Given the description of an element on the screen output the (x, y) to click on. 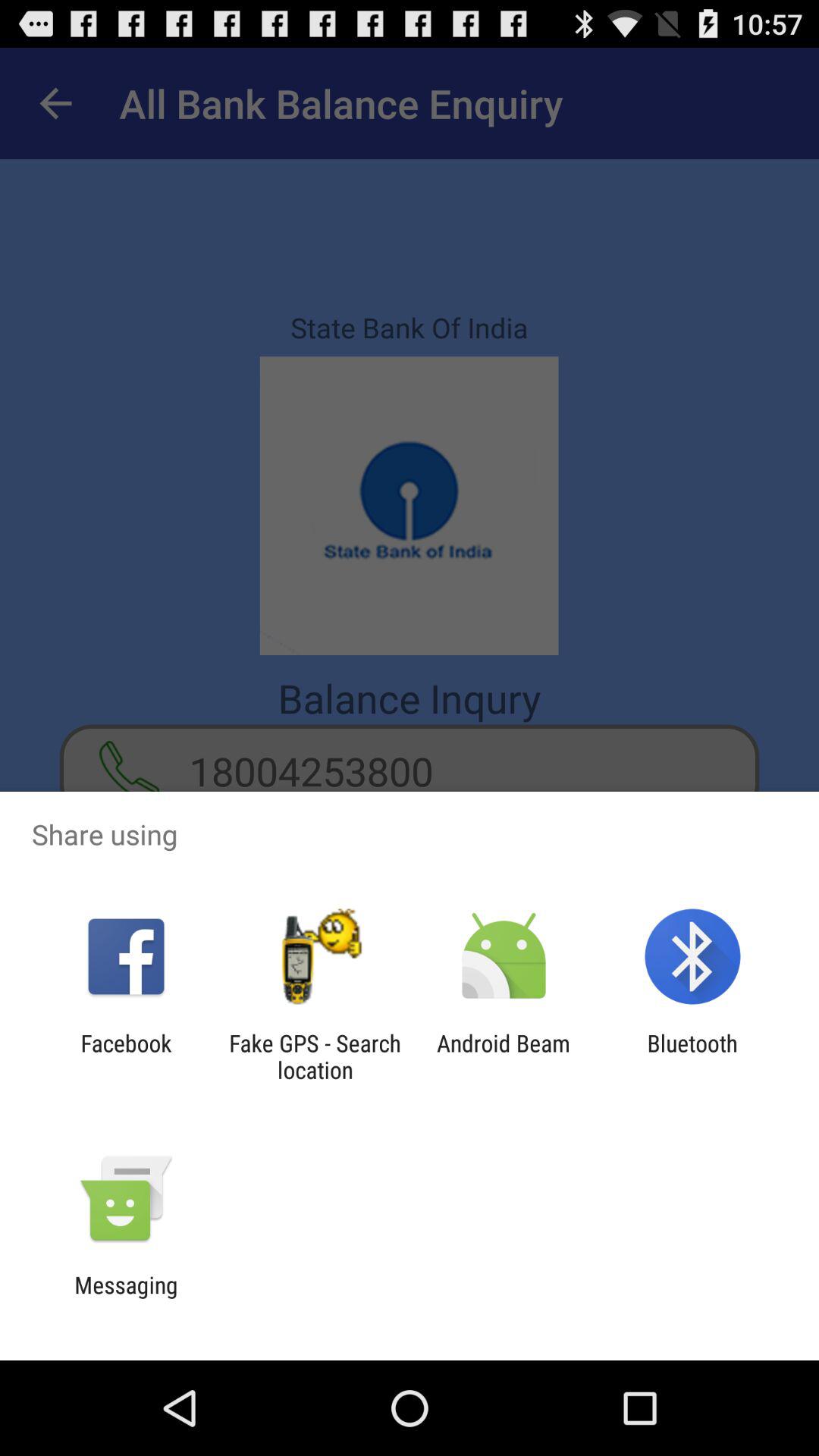
choose icon next to the bluetooth item (503, 1056)
